Given the description of an element on the screen output the (x, y) to click on. 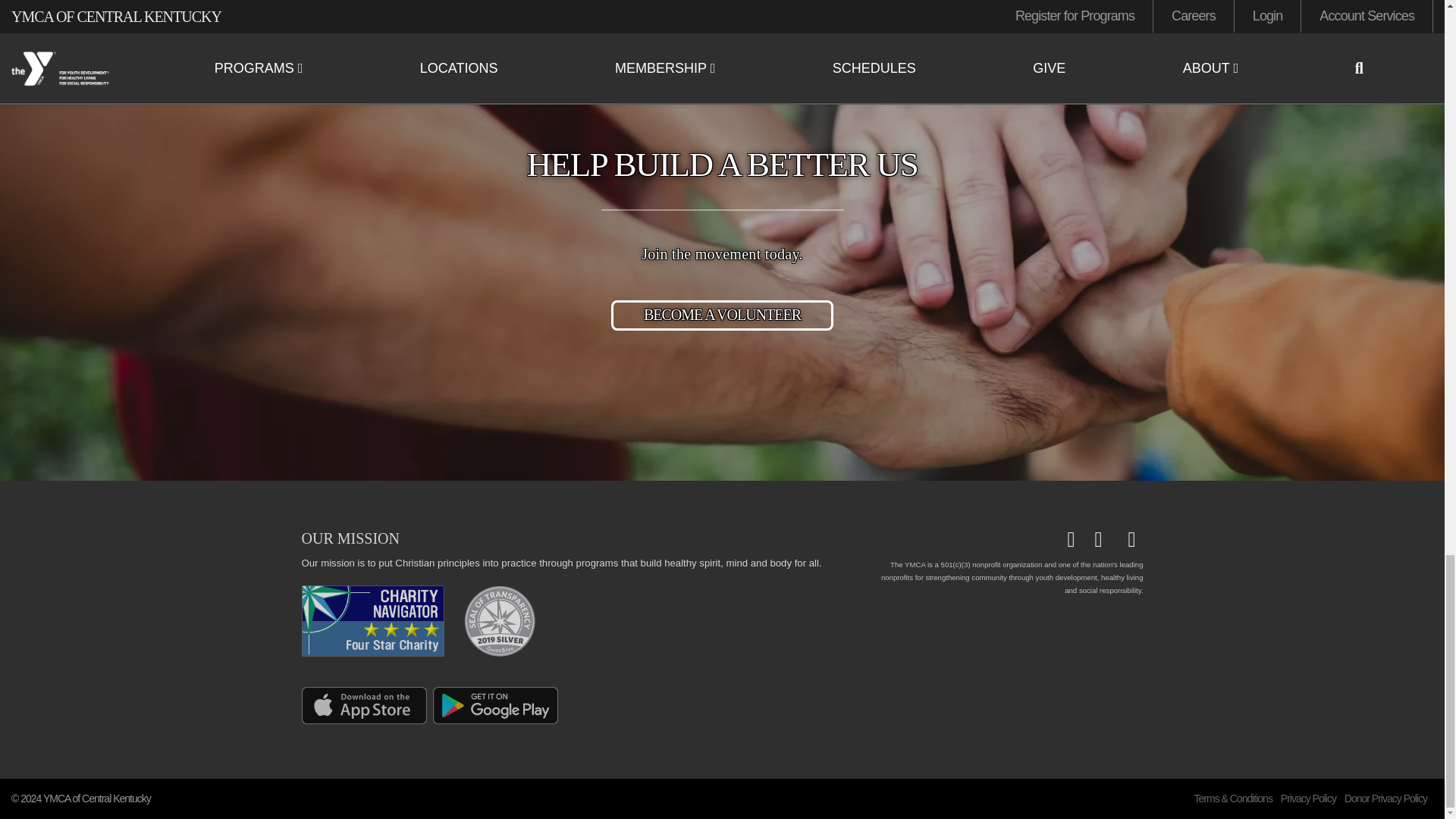
Go to YMCA Facebook (1077, 539)
